Given the description of an element on the screen output the (x, y) to click on. 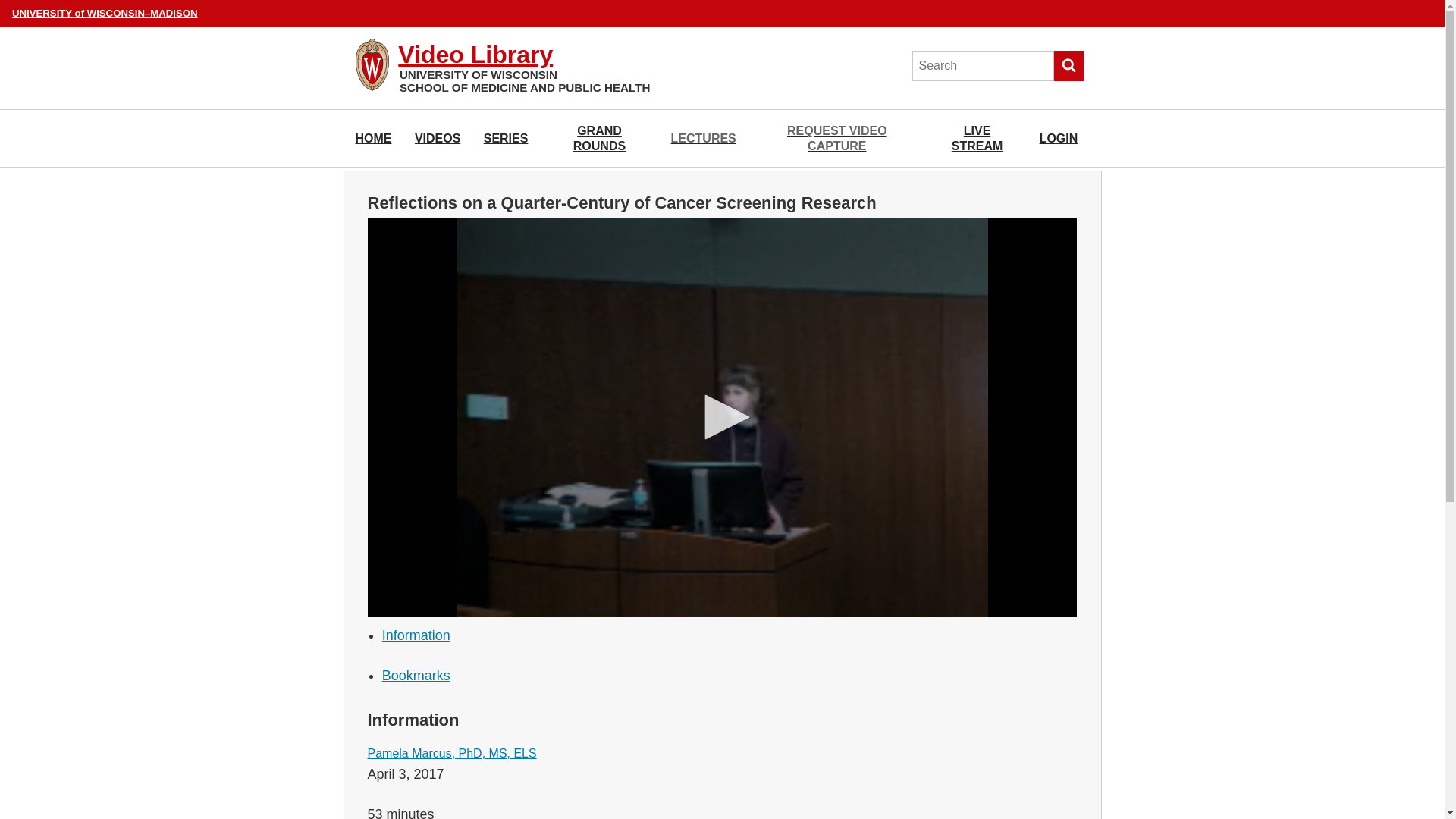
HOME (373, 138)
VIDEOS (437, 138)
SERIES (505, 138)
LOGIN (1058, 138)
LECTURES (703, 138)
GRAND ROUNDS (599, 138)
LIVE STREAM (976, 138)
Pamela Marcus, PhD, MS, ELS (450, 753)
Submit search (1069, 65)
Information (415, 635)
Bookmarks (415, 675)
REQUEST VIDEO CAPTURE (836, 138)
Video Library (475, 53)
Skip to main content (3, 3)
